Given the description of an element on the screen output the (x, y) to click on. 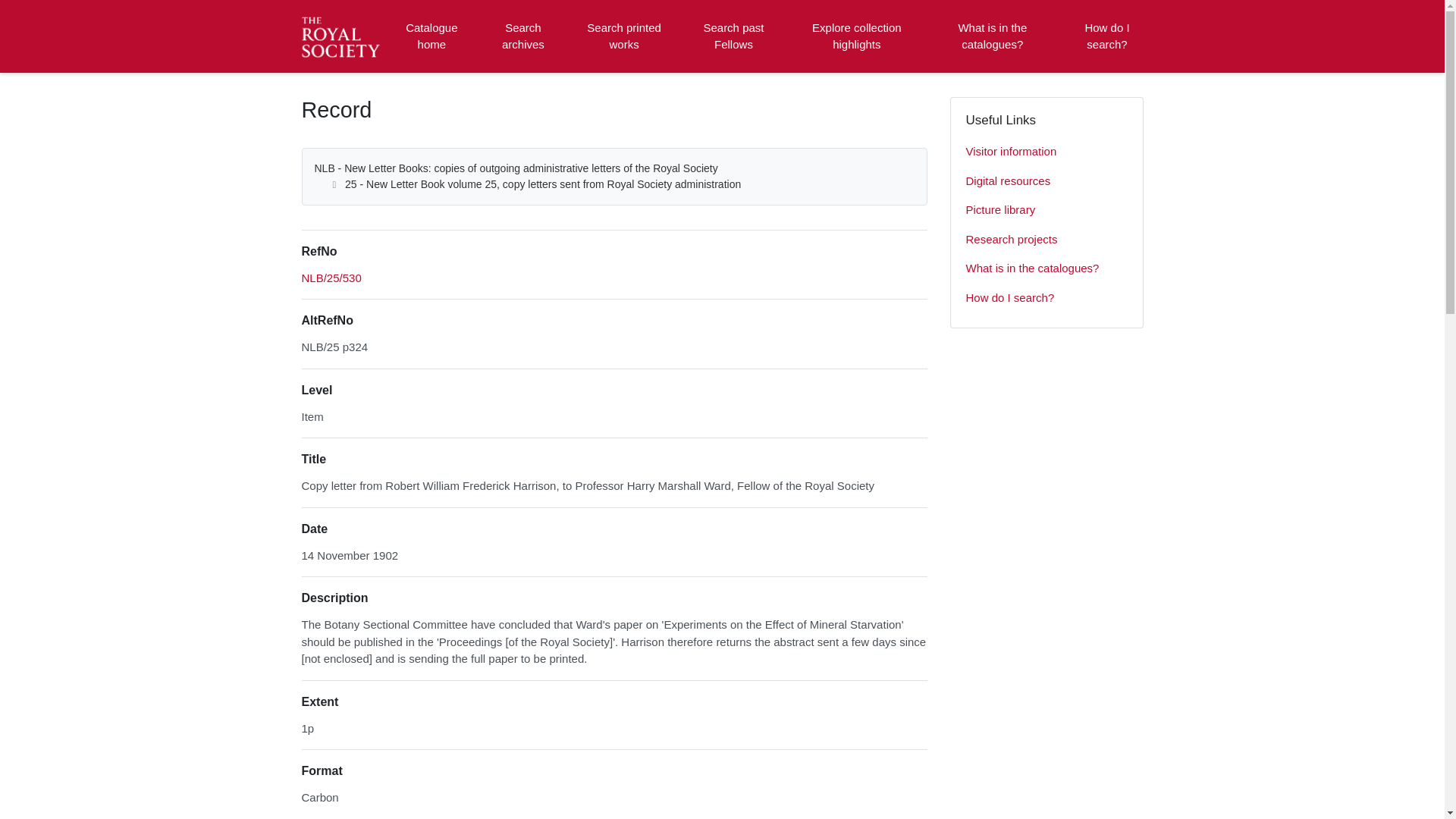
Search archives (522, 36)
Homepage (343, 36)
Explore collection highlights (856, 36)
Search printed works (624, 36)
What is in the catalogues? (1046, 268)
Digital resources (1046, 181)
How do I search? (1046, 297)
How do I search? (1106, 36)
Catalogue home (431, 36)
Research projects (1046, 239)
Search past Fellows (732, 36)
Visitor information (1046, 152)
Browse record in hierarchy. (331, 277)
What is in the catalogues? (991, 36)
